Given the description of an element on the screen output the (x, y) to click on. 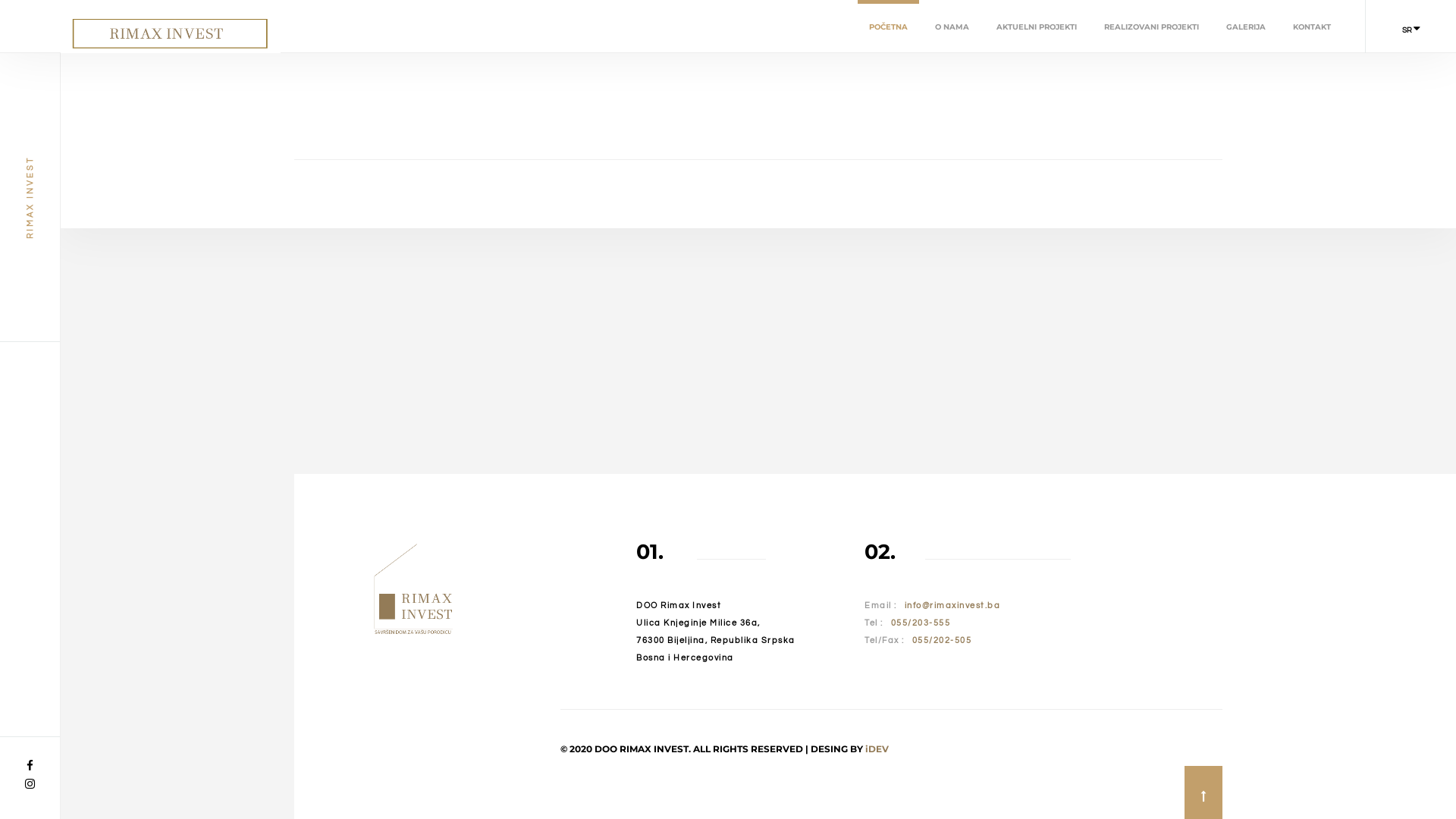
KONTAKT Element type: text (1311, 26)
055/203-555 Element type: text (920, 622)
AKTUELNI PROJEKTI Element type: text (1036, 26)
REALIZOVANI PROJEKTI Element type: text (1151, 26)
iDEV Element type: text (876, 748)
info@rimaxinvest.ba Element type: text (952, 605)
GALERIJA Element type: text (1245, 26)
O NAMA Element type: text (951, 26)
055/202-505 Element type: text (942, 640)
